Given the description of an element on the screen output the (x, y) to click on. 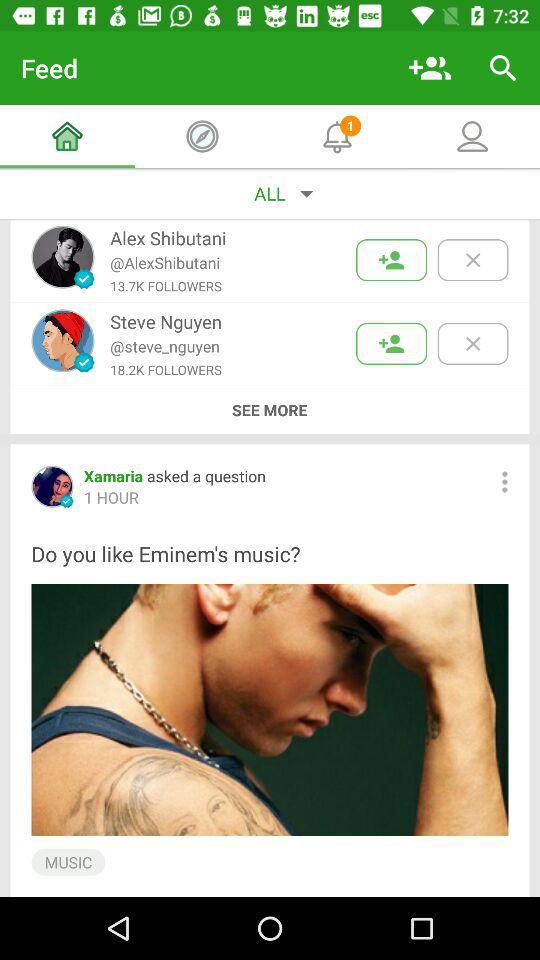
turn on the item above xamaria asked a (269, 409)
